Given the description of an element on the screen output the (x, y) to click on. 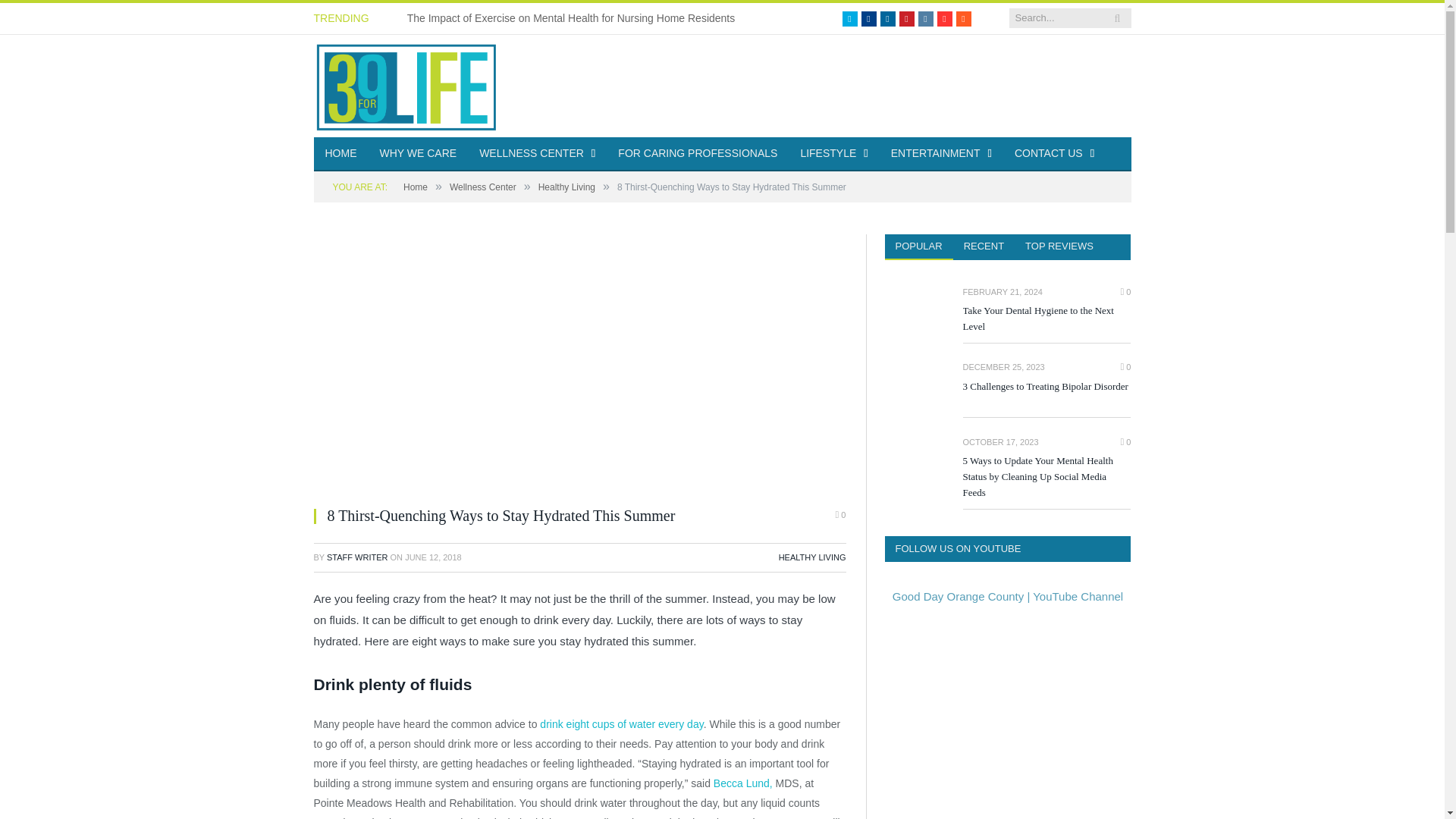
Healthy Living (566, 186)
FOR CARING PROFESSIONALS (698, 154)
LinkedIn (887, 18)
WELLNESS CENTER (537, 154)
CONTACT US (1054, 154)
Facebook (868, 18)
Home (415, 186)
Pinterest (906, 18)
RSS (963, 18)
Instagram (925, 18)
